Given the description of an element on the screen output the (x, y) to click on. 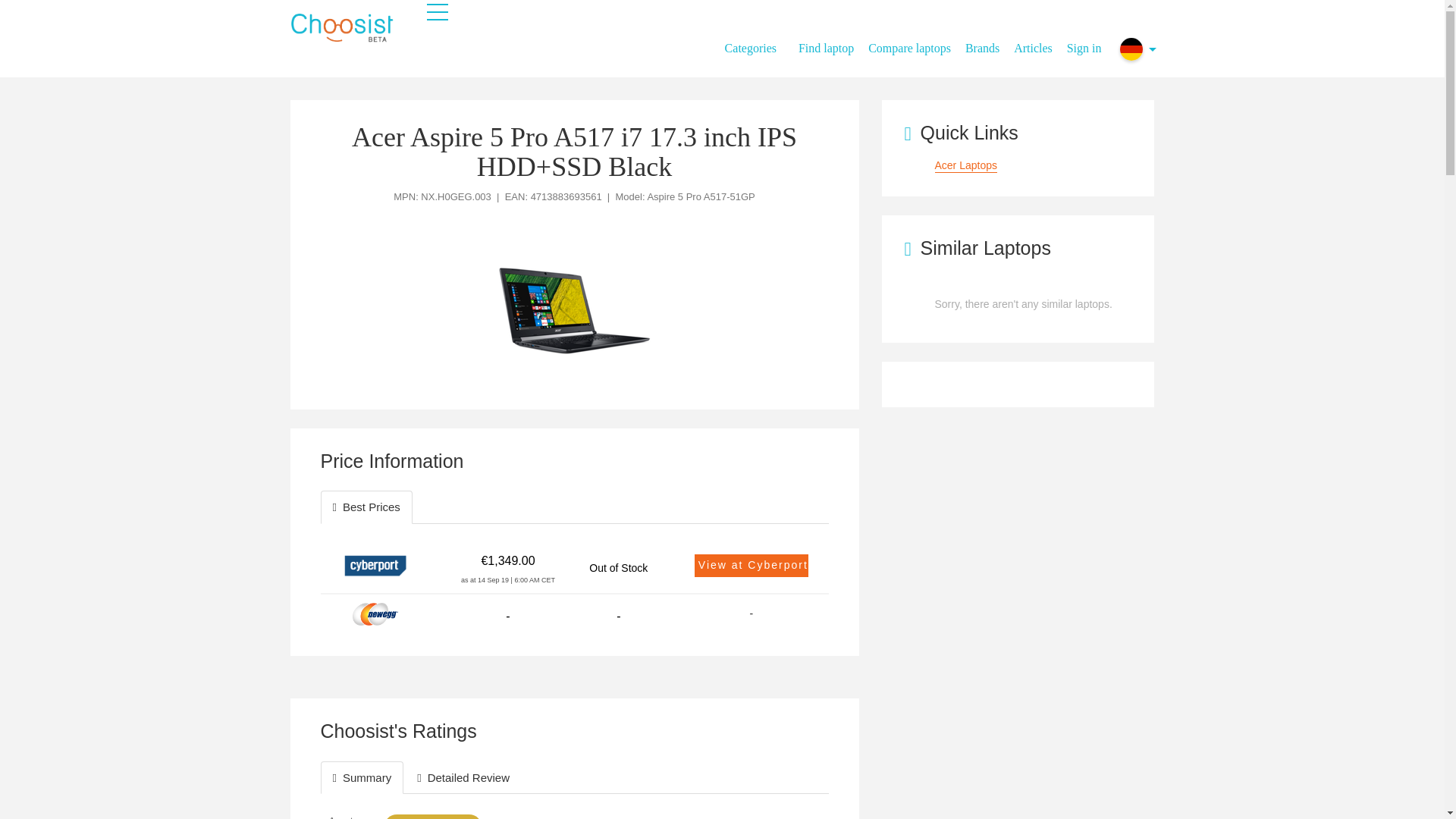
Acer Laptops (965, 165)
Germany (1130, 48)
Compare laptops (914, 41)
Brands (987, 41)
Detailed Review (462, 777)
Categories (756, 49)
Summary (361, 777)
Best Prices (366, 506)
View at Cyberport DE (751, 565)
Find laptop (830, 41)
Sign in (1084, 41)
Articles (1038, 41)
